Given the description of an element on the screen output the (x, y) to click on. 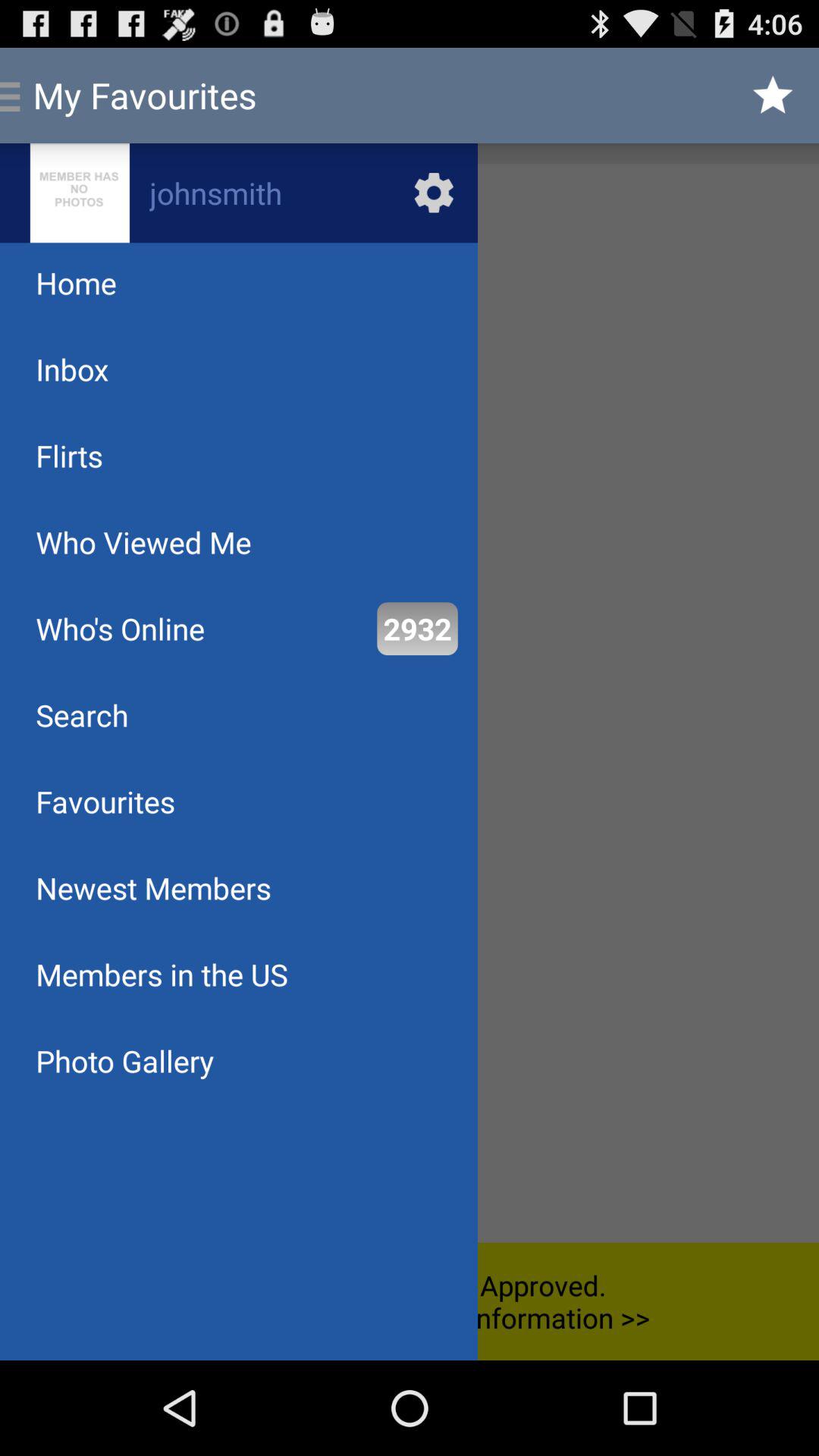
scroll until the photo gallery (124, 1060)
